Given the description of an element on the screen output the (x, y) to click on. 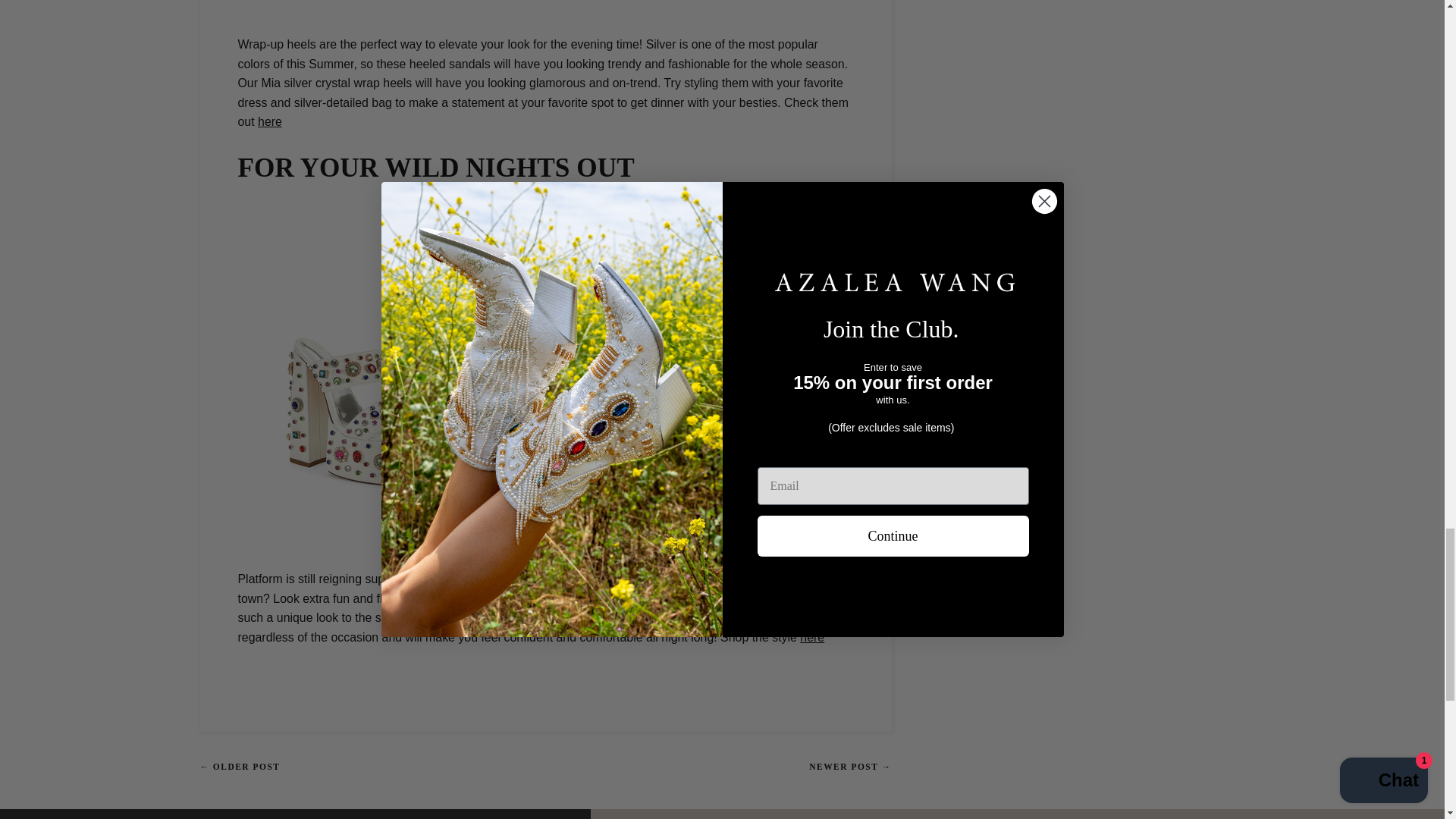
BREEZE-WHITE BEJEWELED PLATFORM SANDAL (811, 636)
MIA-SILVER CRYSTAL WRAP HEELED SANDAL (269, 121)
